Given the description of an element on the screen output the (x, y) to click on. 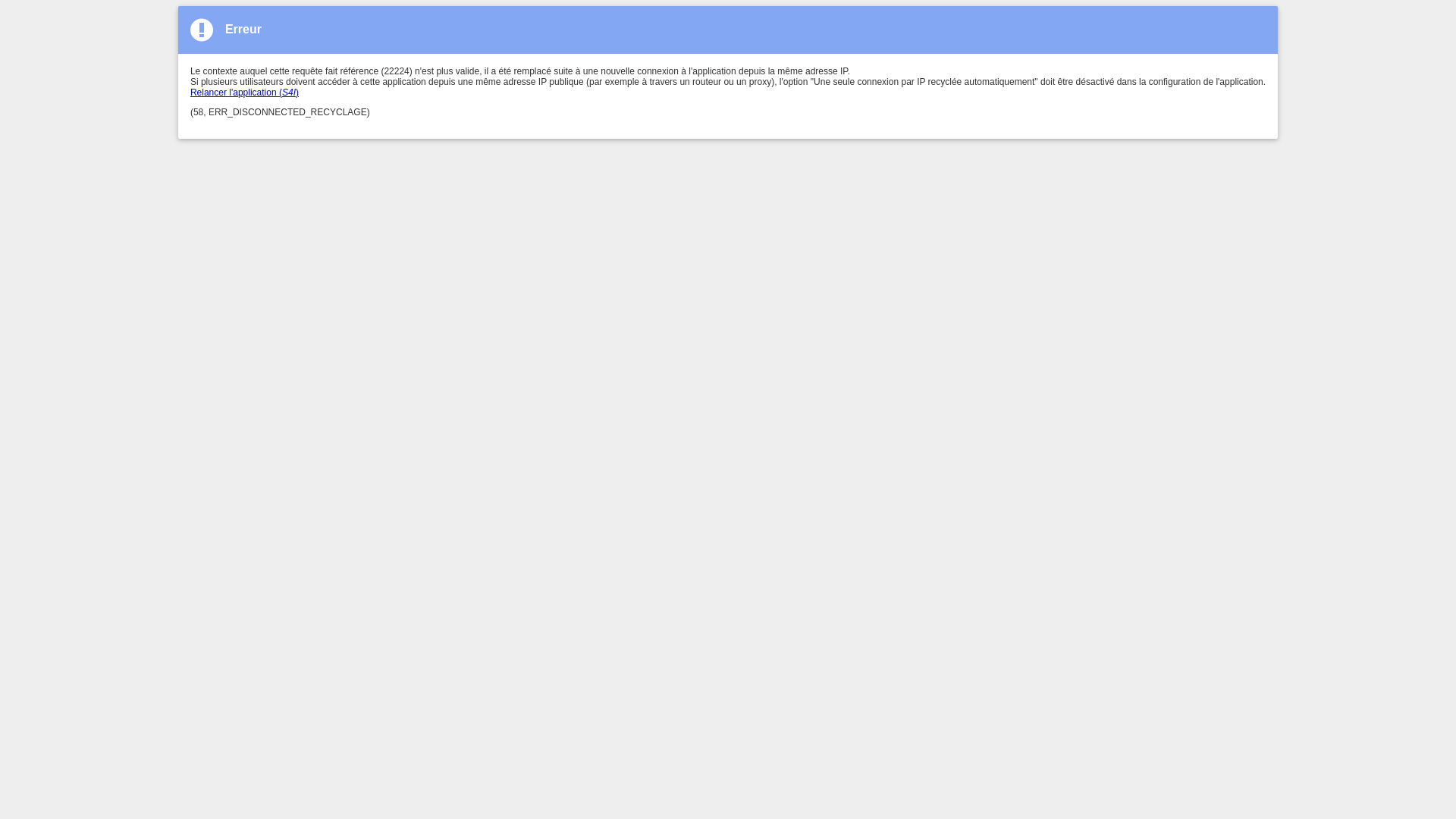
Relancer l'application (S4I) Element type: text (244, 92)
